Given the description of an element on the screen output the (x, y) to click on. 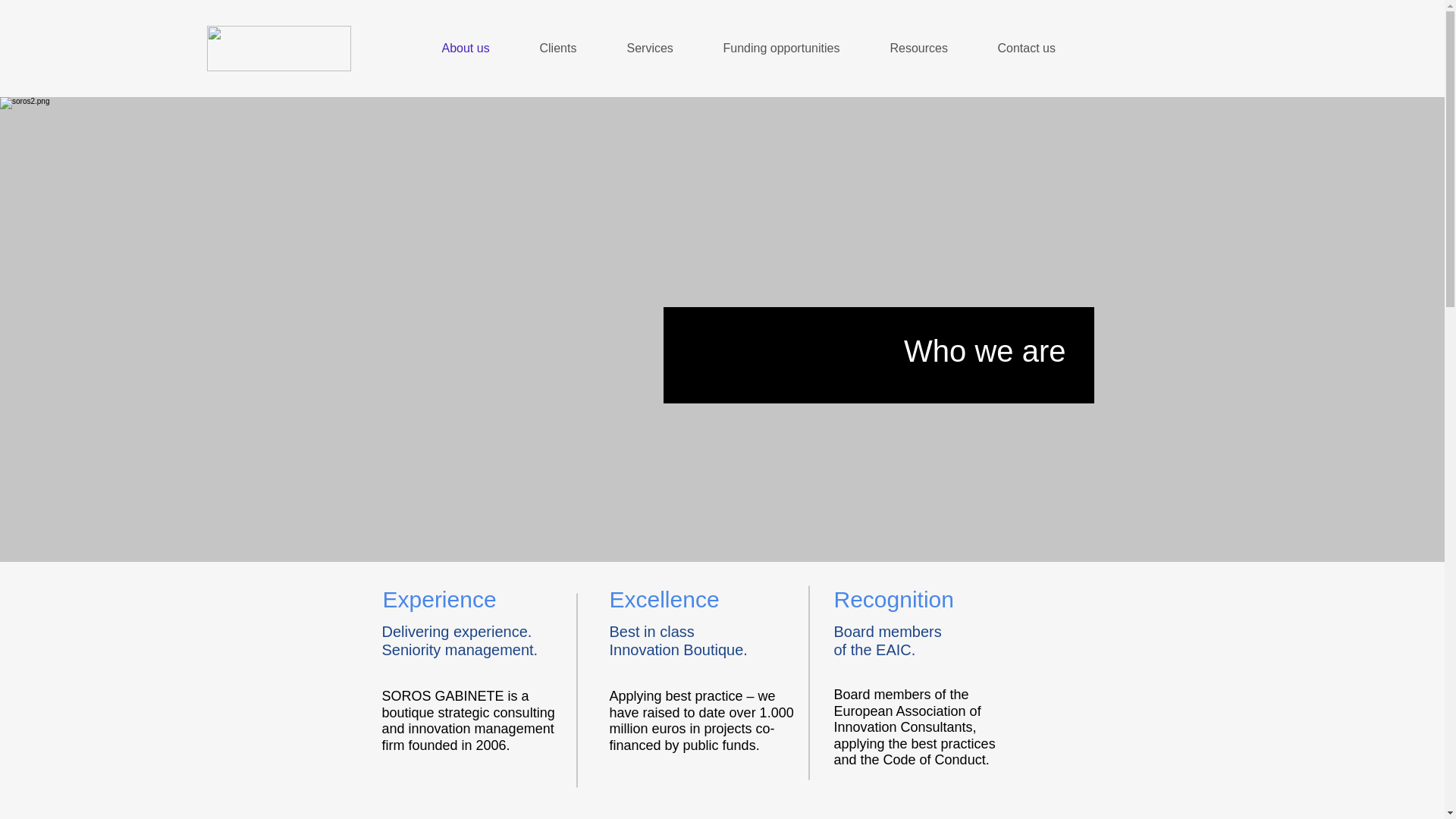
Funding opportunities (794, 48)
Services (663, 48)
Resources (931, 48)
Contact us (1039, 48)
About us (479, 48)
Clients (570, 48)
